Given the description of an element on the screen output the (x, y) to click on. 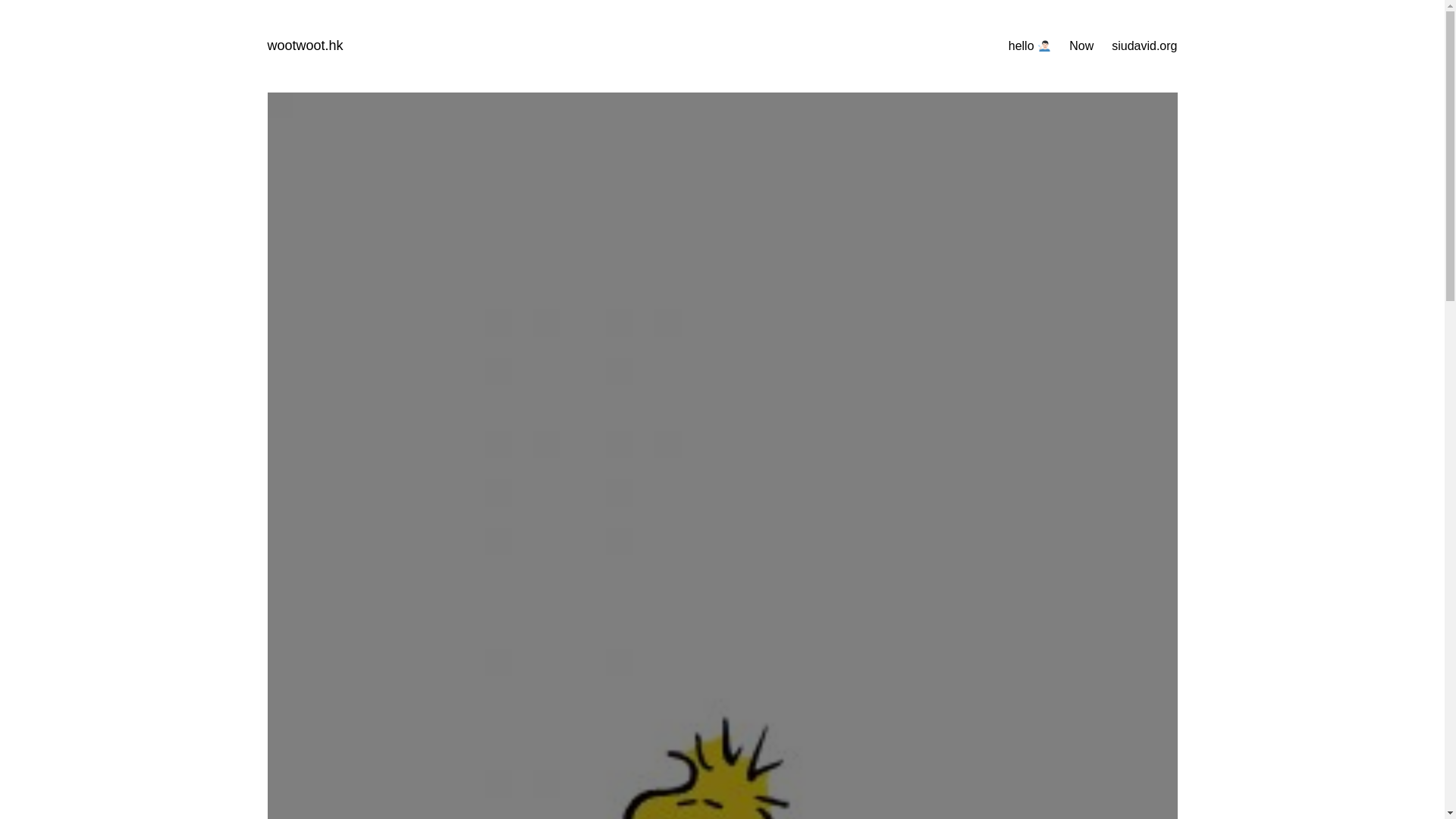
Now (1080, 46)
wootwoot.hk (304, 45)
hello (1030, 46)
siudavid.org (1144, 46)
